Given the description of an element on the screen output the (x, y) to click on. 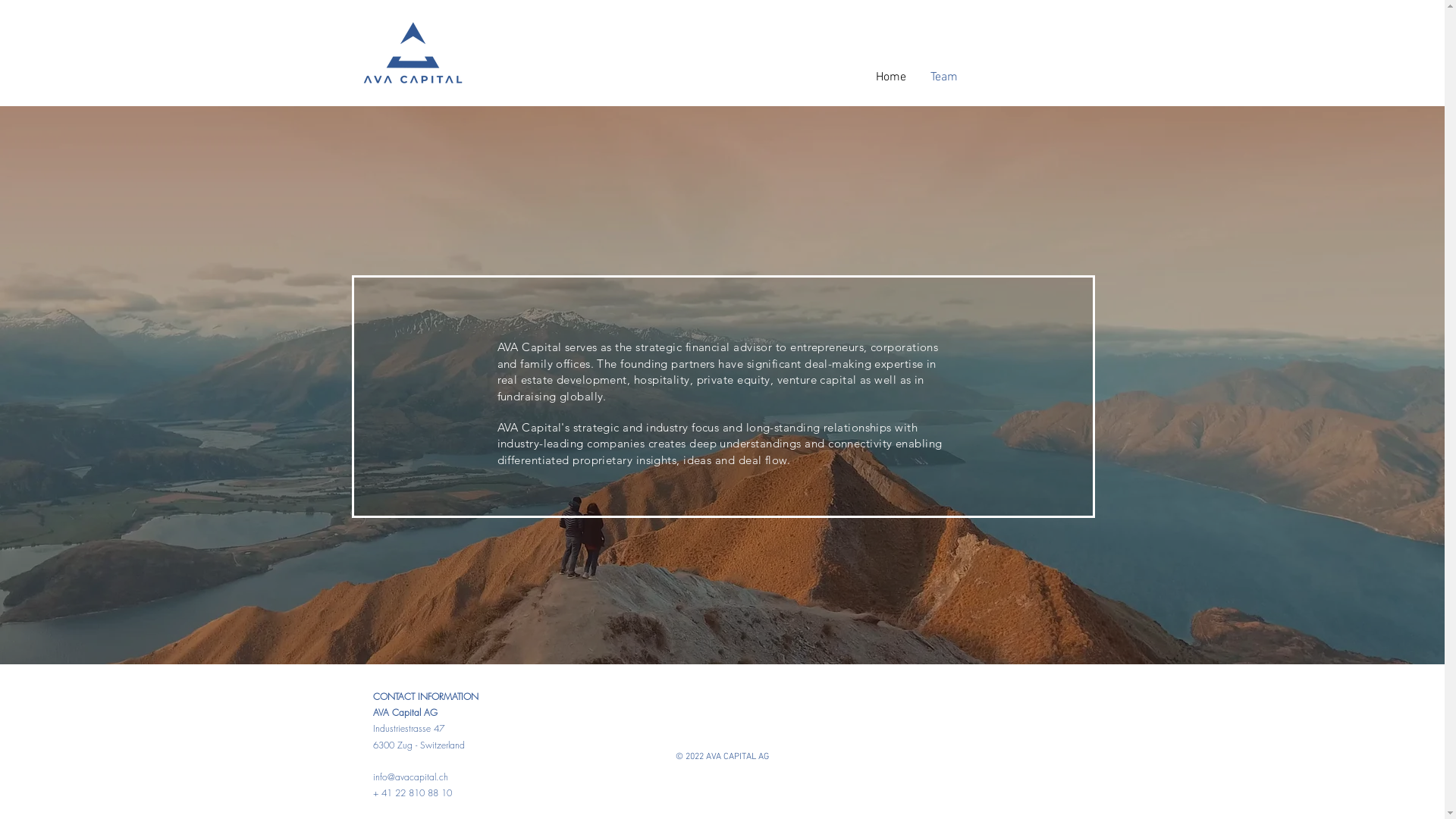
Team Element type: text (943, 77)
info@avacapital.ch Element type: text (410, 776)
Home Element type: text (890, 77)
